Given the description of an element on the screen output the (x, y) to click on. 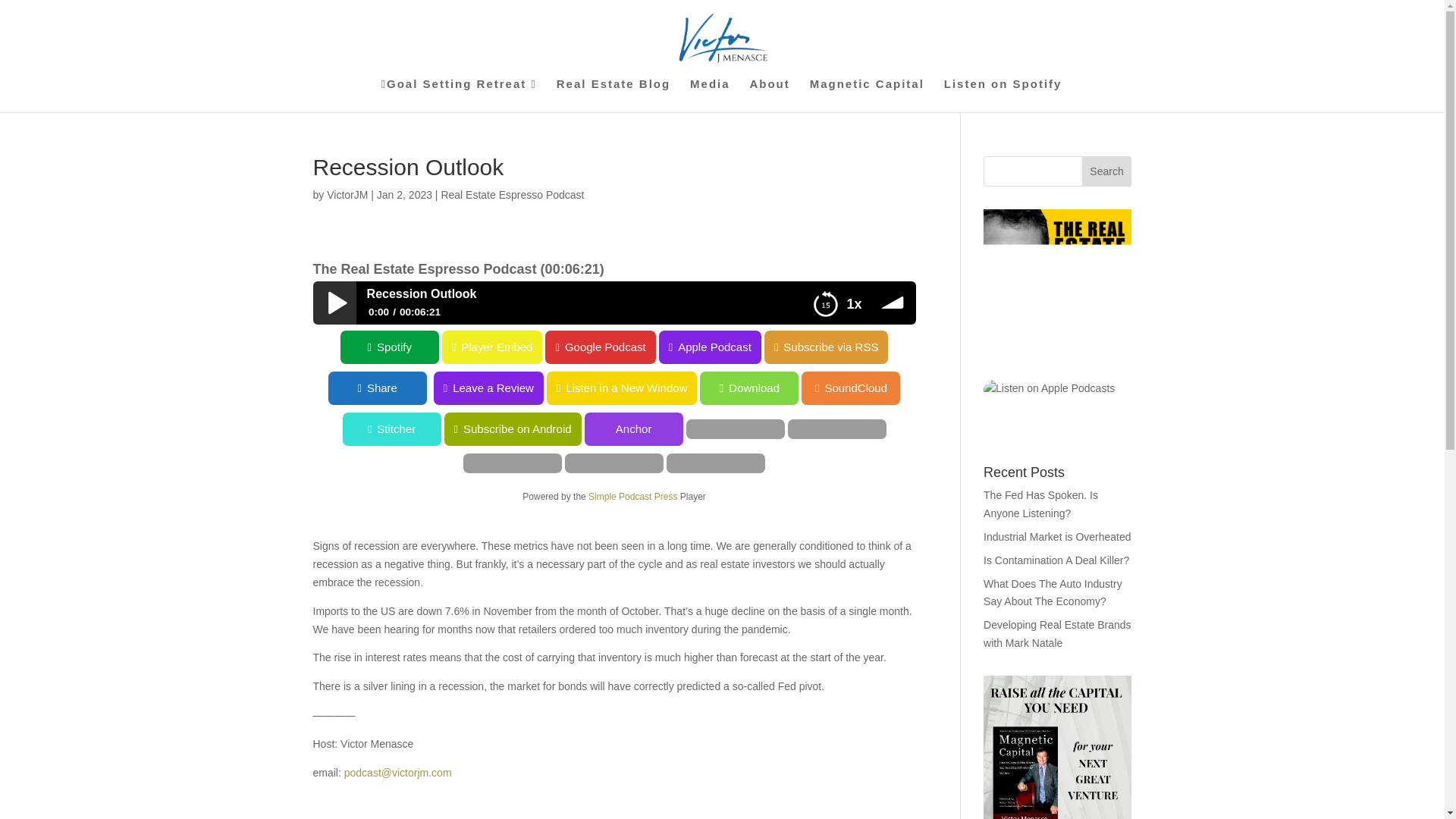
Apple Podcast (710, 346)
About (769, 95)
Simple Podcast Press (632, 496)
Subscribe via RSS (826, 346)
Industrial Market is Overheated (1057, 400)
Real Estate Espresso Podcast (512, 194)
Is Contamination A Deal Killer? (1056, 424)
Magnetic Capital (866, 95)
Posts by VictorJM (347, 194)
Search (1106, 171)
